Given the description of an element on the screen output the (x, y) to click on. 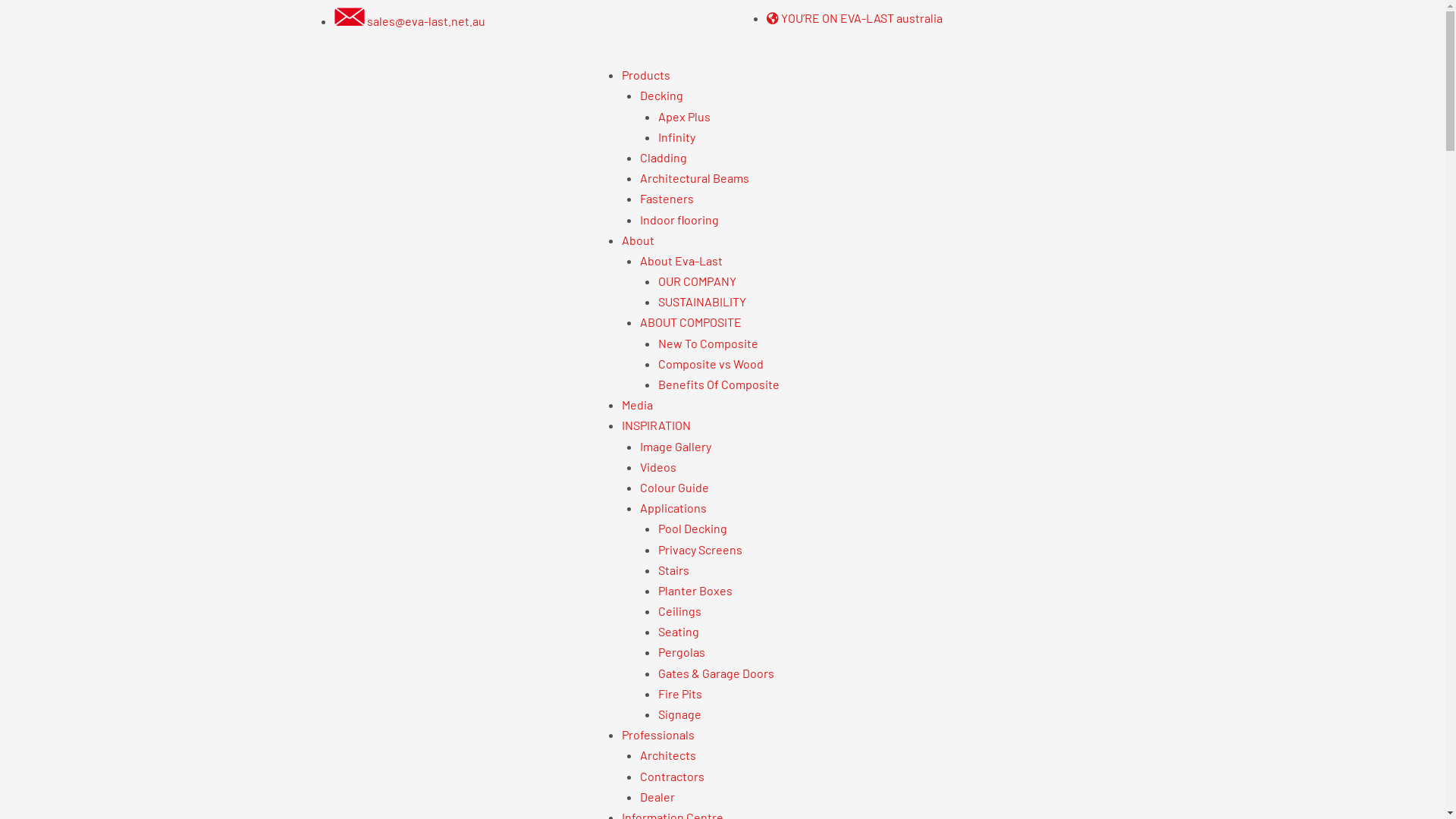
Professionals Element type: text (657, 734)
About Eva-Last Element type: text (681, 260)
Videos Element type: text (658, 466)
SUSTAINABILITY Element type: text (702, 301)
Seating Element type: text (678, 631)
OUR COMPANY Element type: text (697, 280)
Privacy Screens Element type: text (700, 548)
Fasteners Element type: text (666, 198)
Signage Element type: text (679, 713)
Pool Decking Element type: text (692, 527)
Pergolas Element type: text (681, 651)
New To Composite Element type: text (708, 342)
Architects Element type: text (668, 754)
About Element type: text (637, 239)
Applications Element type: text (673, 507)
Dealer Element type: text (657, 796)
Fire Pits Element type: text (680, 693)
Stairs Element type: text (673, 569)
INSPIRATION Element type: text (655, 424)
Contractors Element type: text (672, 775)
sales@eva-last.net.au Element type: text (408, 20)
Infinity Element type: text (676, 136)
Media Element type: text (636, 404)
Indoor flooring Element type: text (679, 219)
Cladding Element type: text (663, 157)
Benefits Of Composite Element type: text (718, 383)
Decking Element type: text (661, 94)
Ceilings Element type: text (679, 610)
Image Gallery Element type: text (675, 446)
Apex Plus Element type: text (684, 116)
ABOUT COMPOSITE Element type: text (690, 321)
Architectural Beams Element type: text (694, 177)
Planter Boxes Element type: text (695, 590)
Composite vs Wood Element type: text (710, 363)
Gates & Garage Doors Element type: text (716, 672)
Colour Guide Element type: text (674, 487)
Products Element type: text (645, 74)
